Given the description of an element on the screen output the (x, y) to click on. 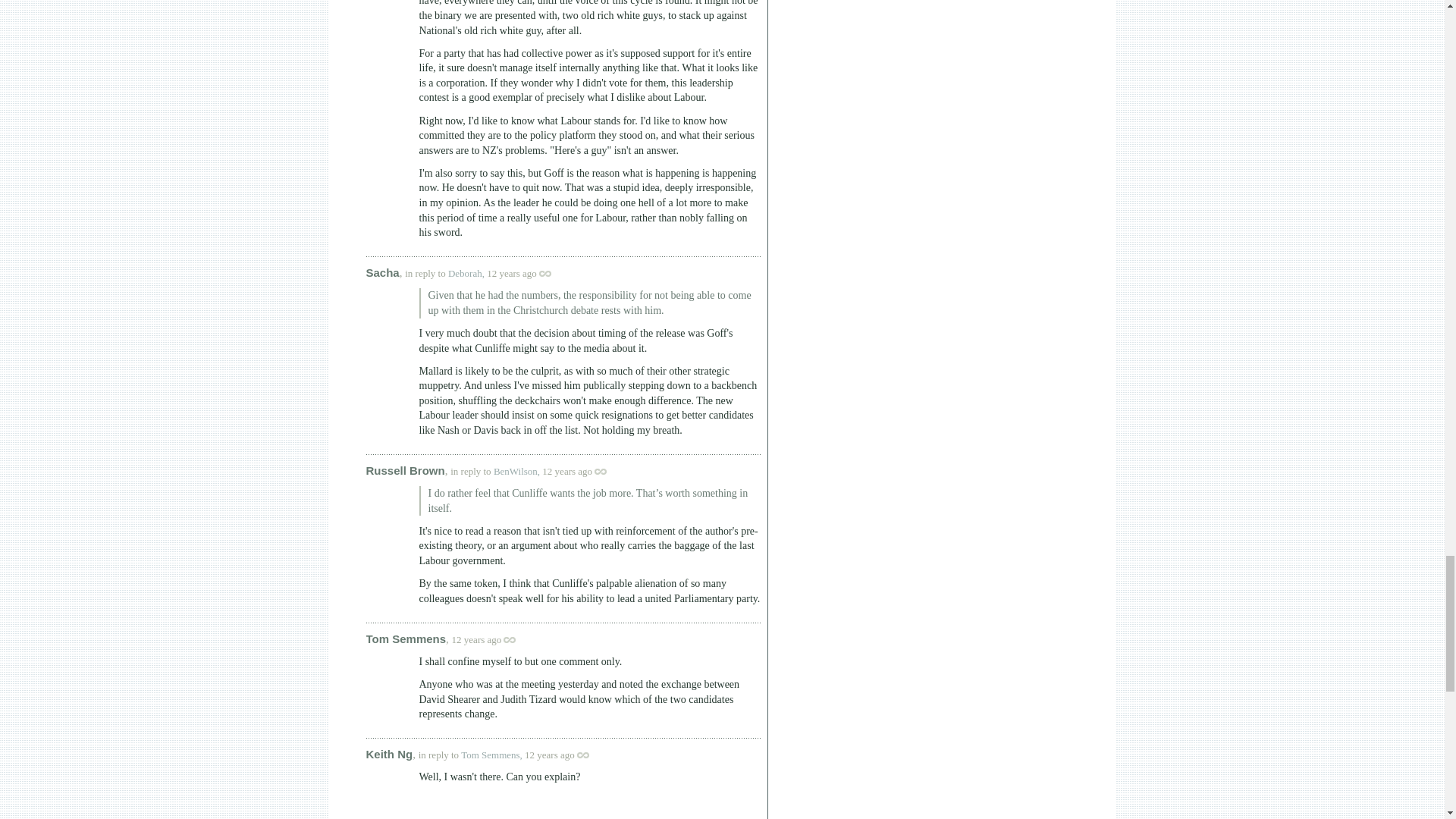
09:25 Dec 12, 2011 (511, 273)
09:29 Dec 12, 2011 (566, 471)
